Given the description of an element on the screen output the (x, y) to click on. 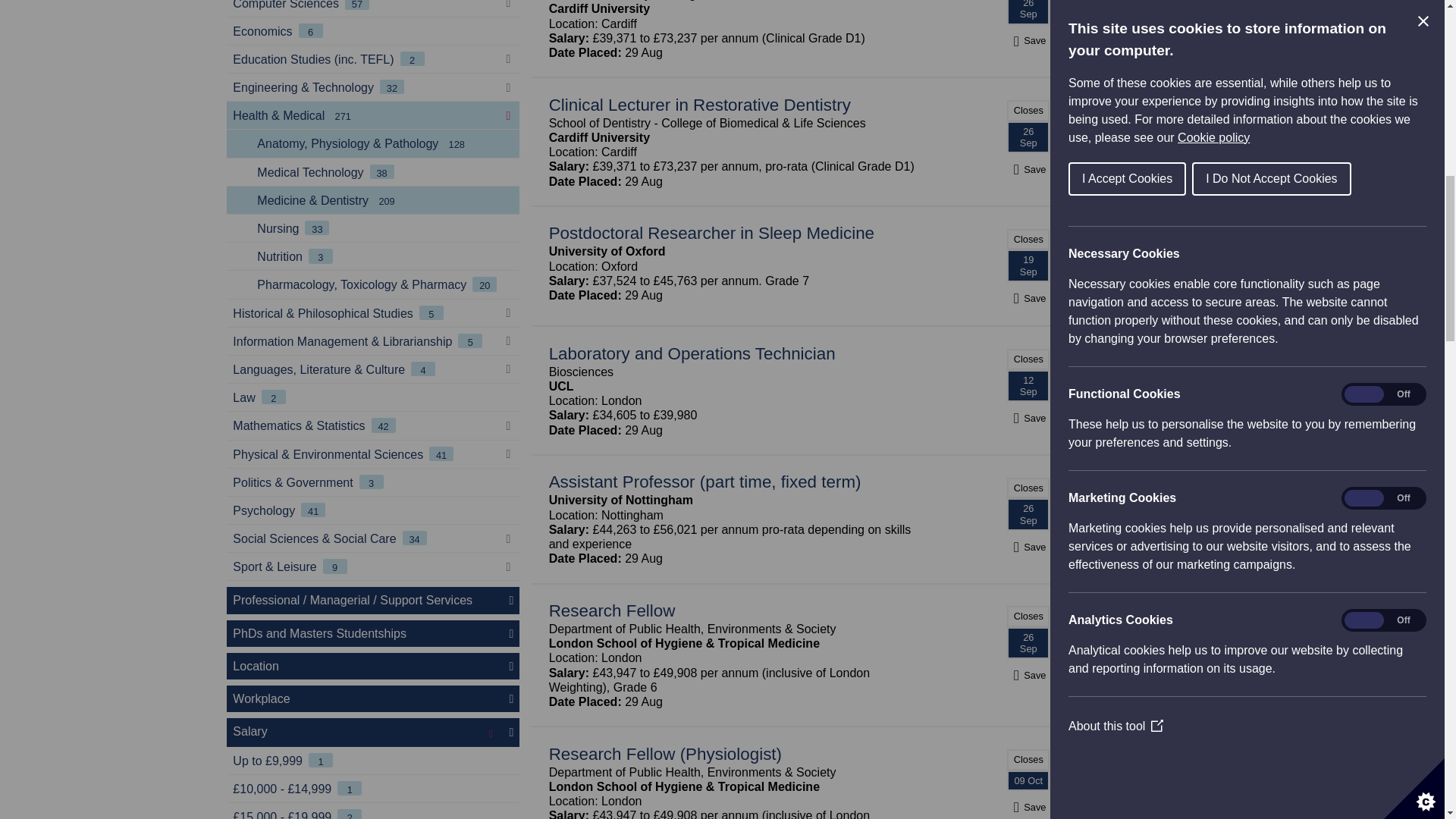
Save job (1027, 40)
Save job (1027, 806)
Save job (1027, 674)
Save job (1027, 298)
Save job (1027, 169)
Save job (1027, 546)
Save job (1027, 417)
